Given the description of an element on the screen output the (x, y) to click on. 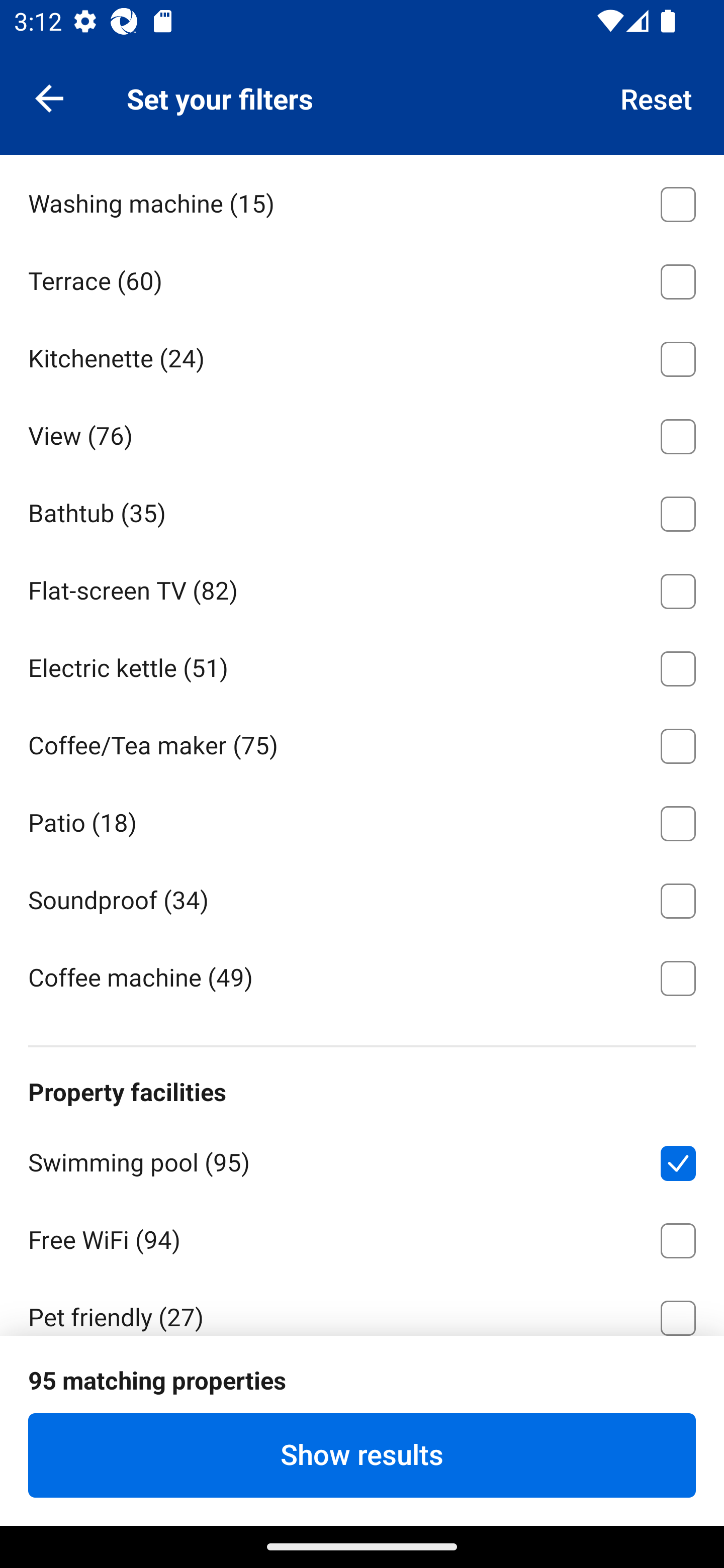
Navigate up (49, 97)
Reset (656, 97)
Washing machine ⁦(15) (361, 201)
Terrace ⁦(60) (361, 277)
Kitchenette ⁦(24) (361, 355)
View ⁦(76) (361, 433)
Bathtub ⁦(35) (361, 509)
Flat-screen TV ⁦(82) (361, 587)
Electric kettle ⁦(51) (361, 665)
Coffee/Tea maker ⁦(75) (361, 742)
Patio ⁦(18) (361, 819)
Soundproof ⁦(34) (361, 897)
Coffee machine ⁦(49) (361, 976)
Swimming pool ⁦(95) (361, 1159)
Free WiFi ⁦(94) (361, 1236)
Pet friendly ⁦(27) (361, 1305)
Free parking ⁦(41) (361, 1391)
Show results (361, 1454)
